Given the description of an element on the screen output the (x, y) to click on. 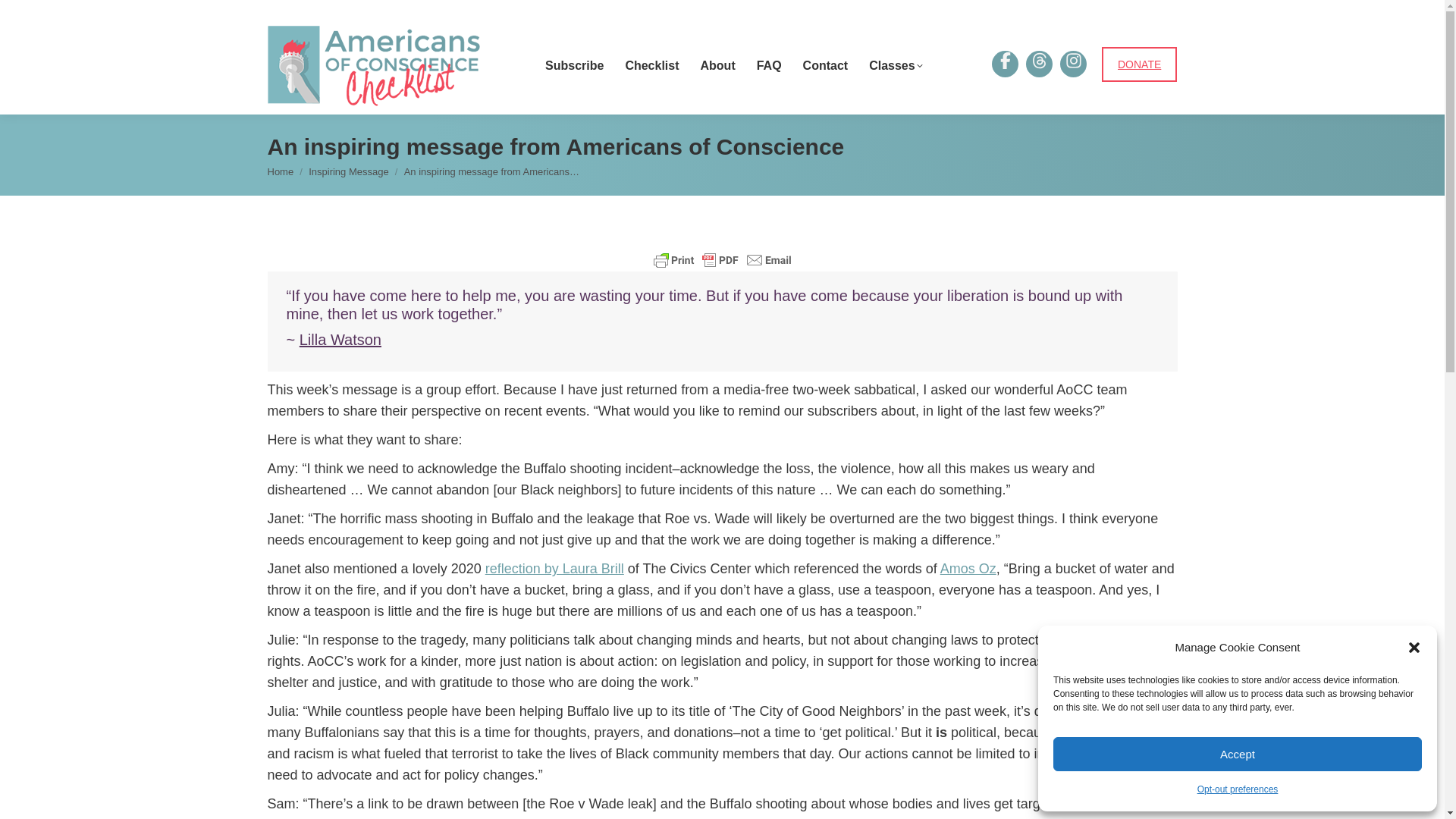
Threads page opens in new window (1039, 63)
Opt-out preferences (1237, 789)
Instagram page opens in new window (1072, 63)
Instagram page opens in new window (1072, 63)
Facebook page opens in new window (1004, 63)
DONATE (1139, 63)
Threads page opens in new window (1039, 63)
Accept (1237, 754)
Facebook page opens in new window (1004, 63)
